Given the description of an element on the screen output the (x, y) to click on. 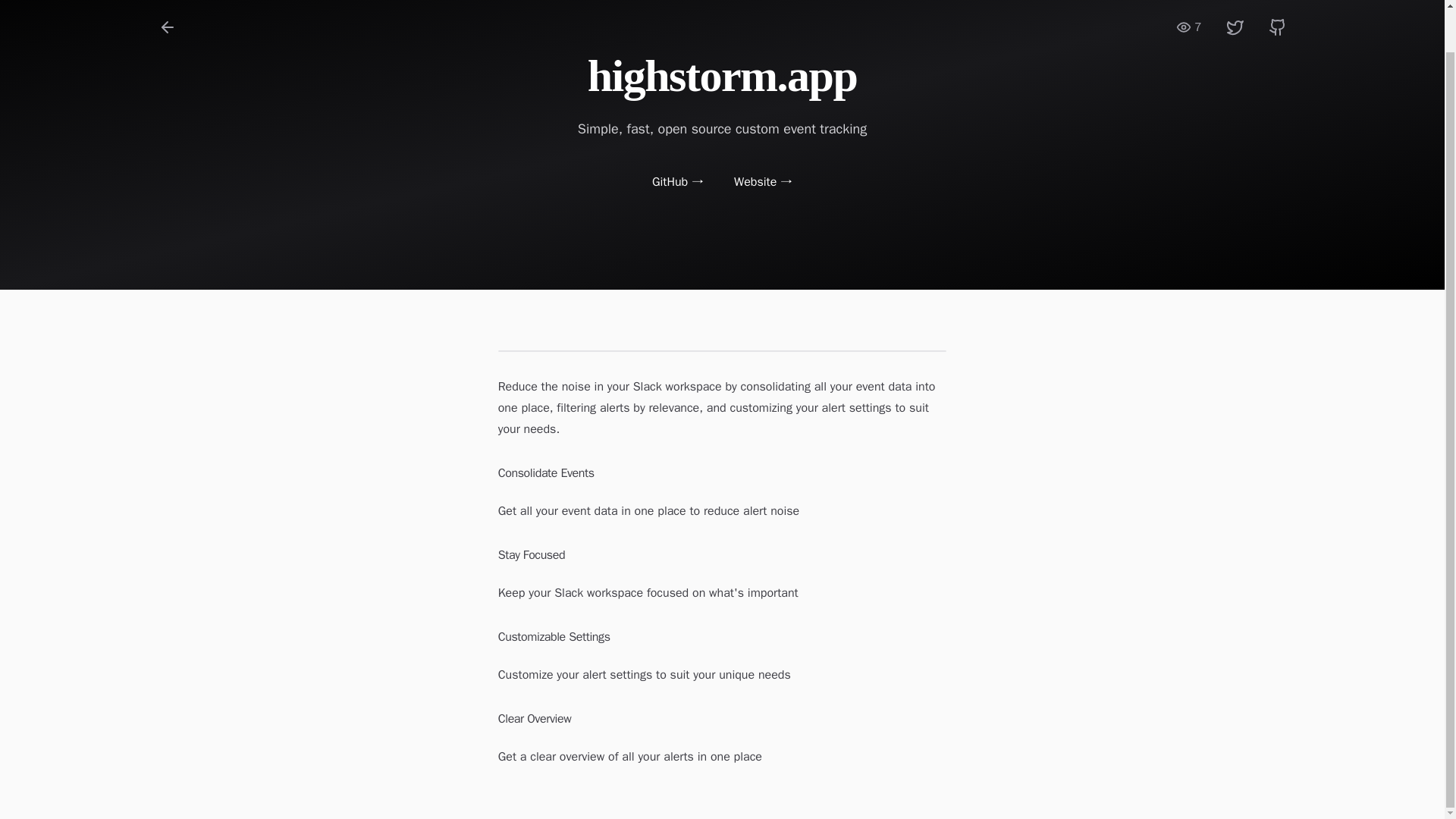
Consolidate Events (722, 473)
Customizable Settings (722, 637)
Clear Overview (722, 719)
Stay Focused (722, 555)
